Given the description of an element on the screen output the (x, y) to click on. 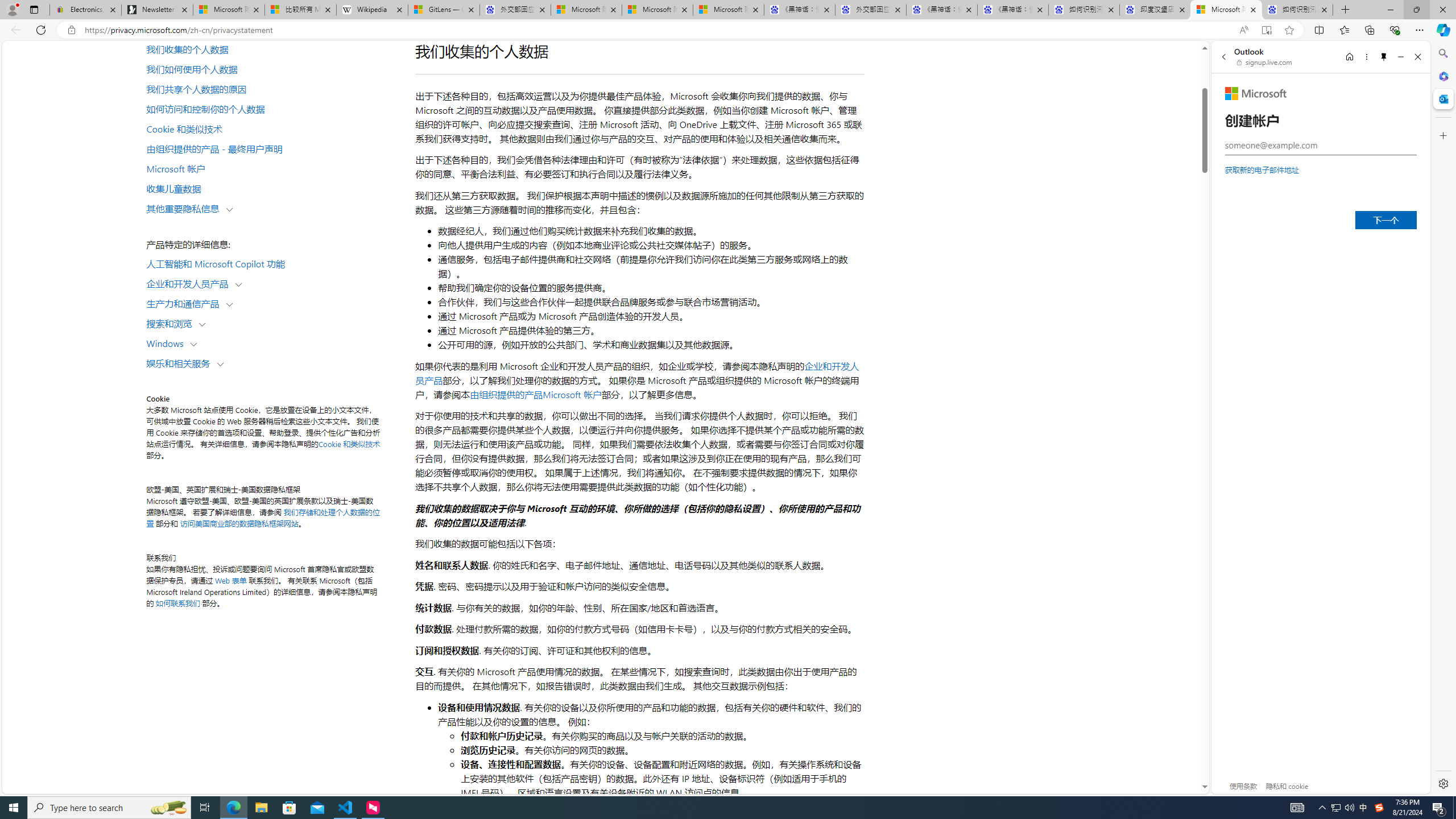
Newsletter Sign Up (157, 9)
Microsoft (1255, 93)
